Given the description of an element on the screen output the (x, y) to click on. 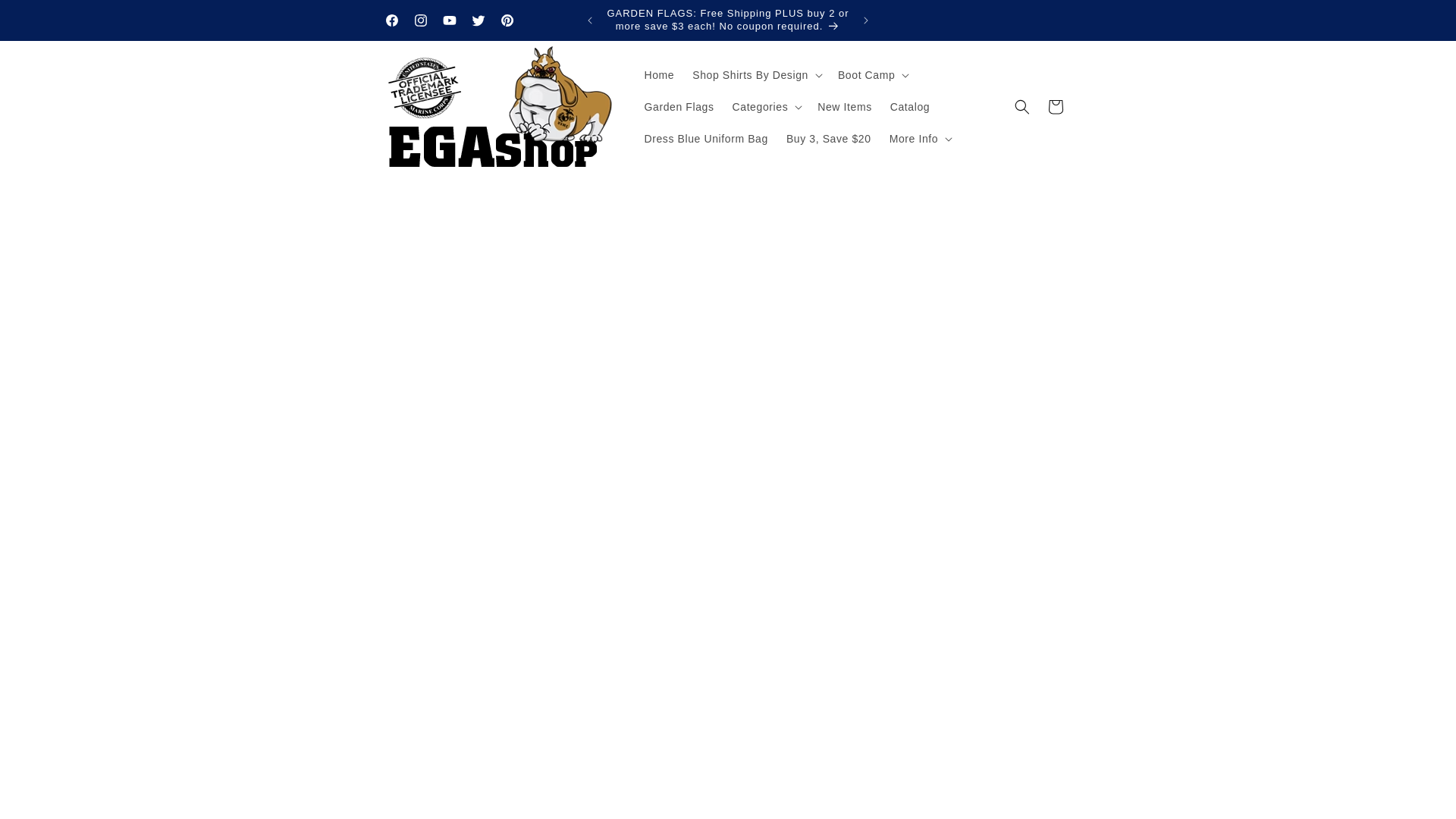
Instagram (420, 20)
Twitter (478, 20)
YouTube (449, 20)
Facebook (391, 20)
Skip to content (45, 17)
Pinterest (507, 20)
